Given the description of an element on the screen output the (x, y) to click on. 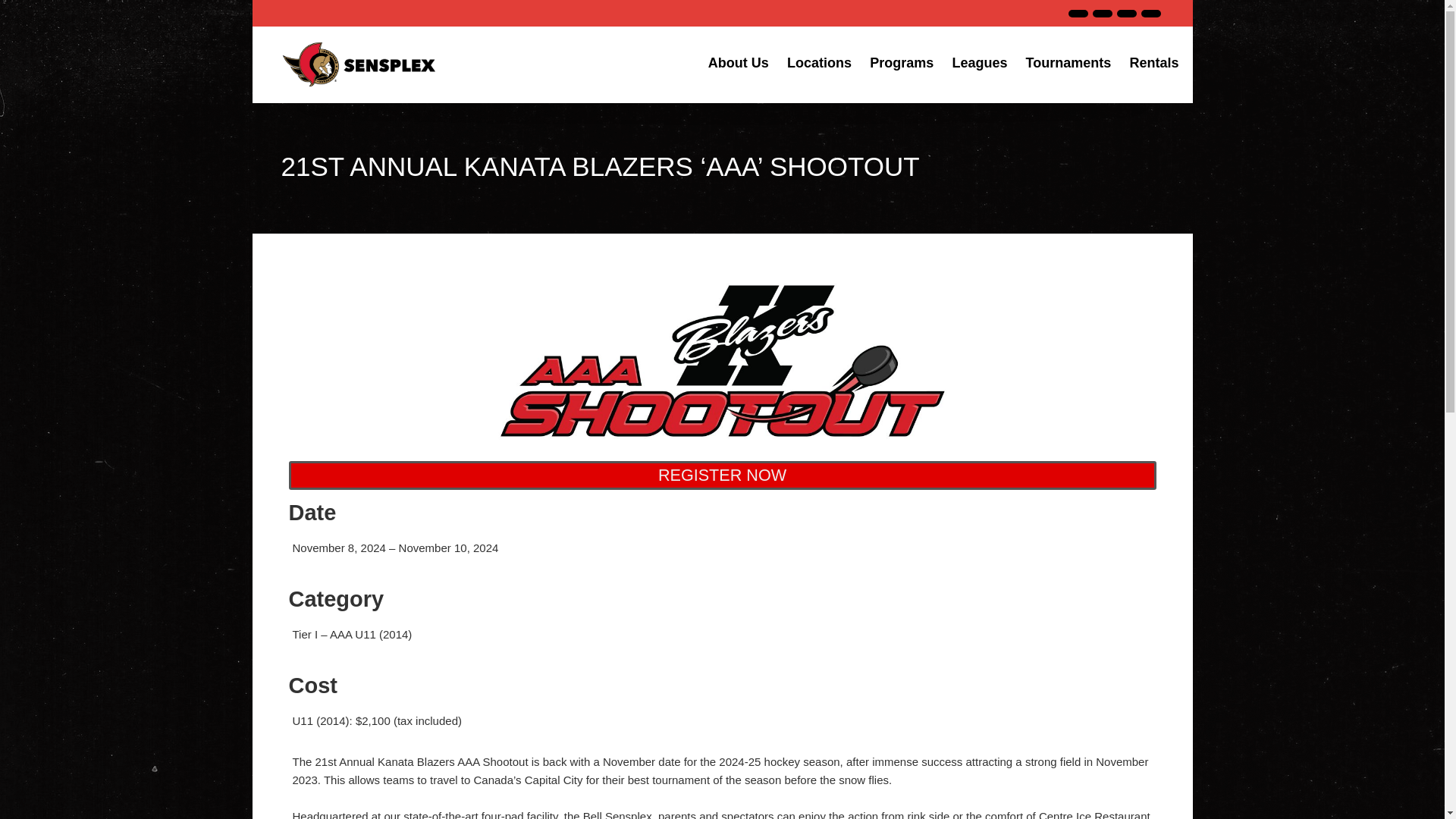
Programs (900, 62)
Tournaments (1068, 62)
Leagues (978, 62)
About Us (738, 62)
REGISTER NOW (722, 474)
Rentals (1153, 62)
Locations (818, 62)
